Given the description of an element on the screen output the (x, y) to click on. 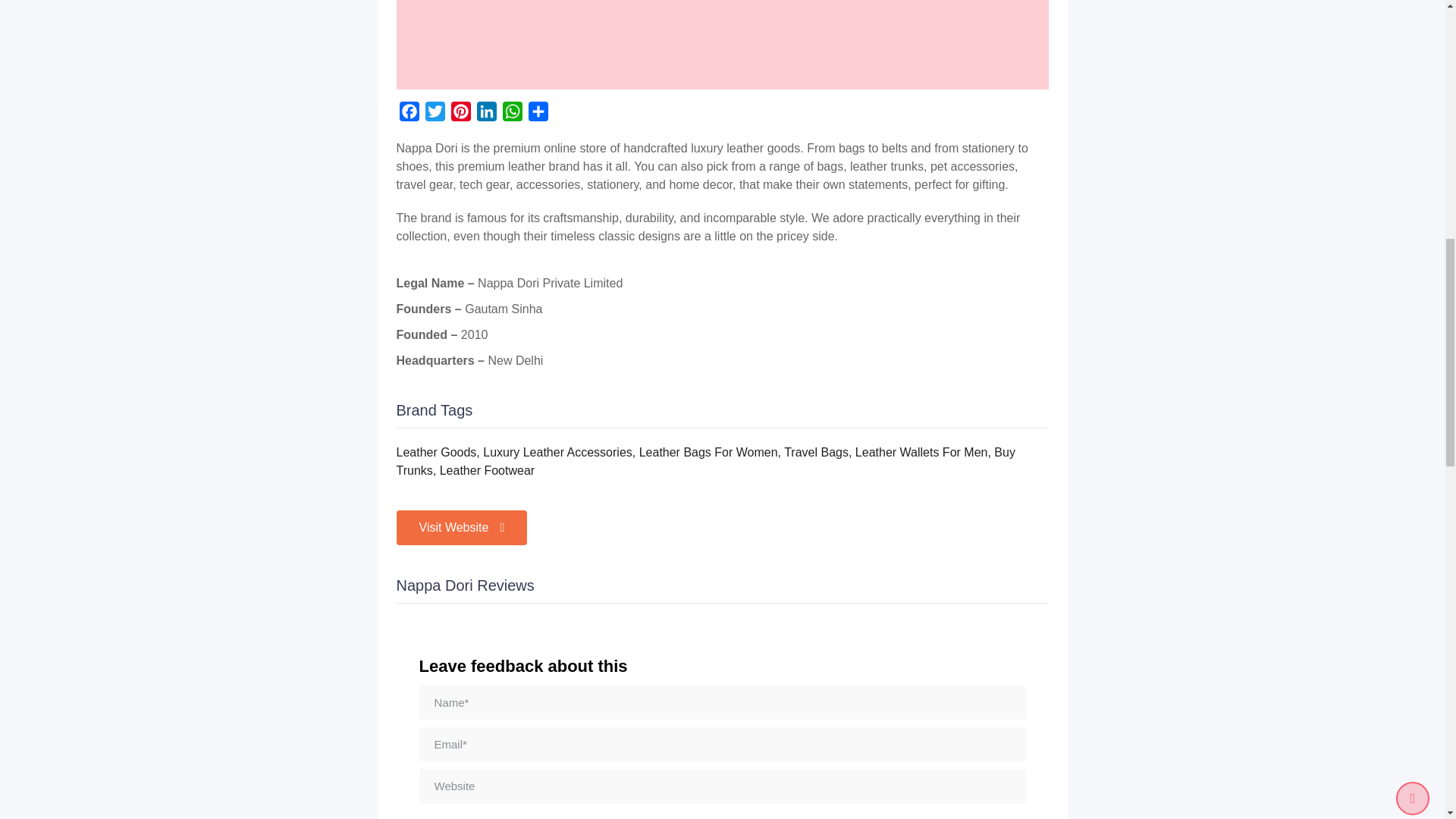
Facebook (409, 114)
LinkedIn (486, 114)
WhatsApp (511, 114)
Advertisement (722, 44)
Twitter (434, 114)
Pinterest (459, 114)
